Given the description of an element on the screen output the (x, y) to click on. 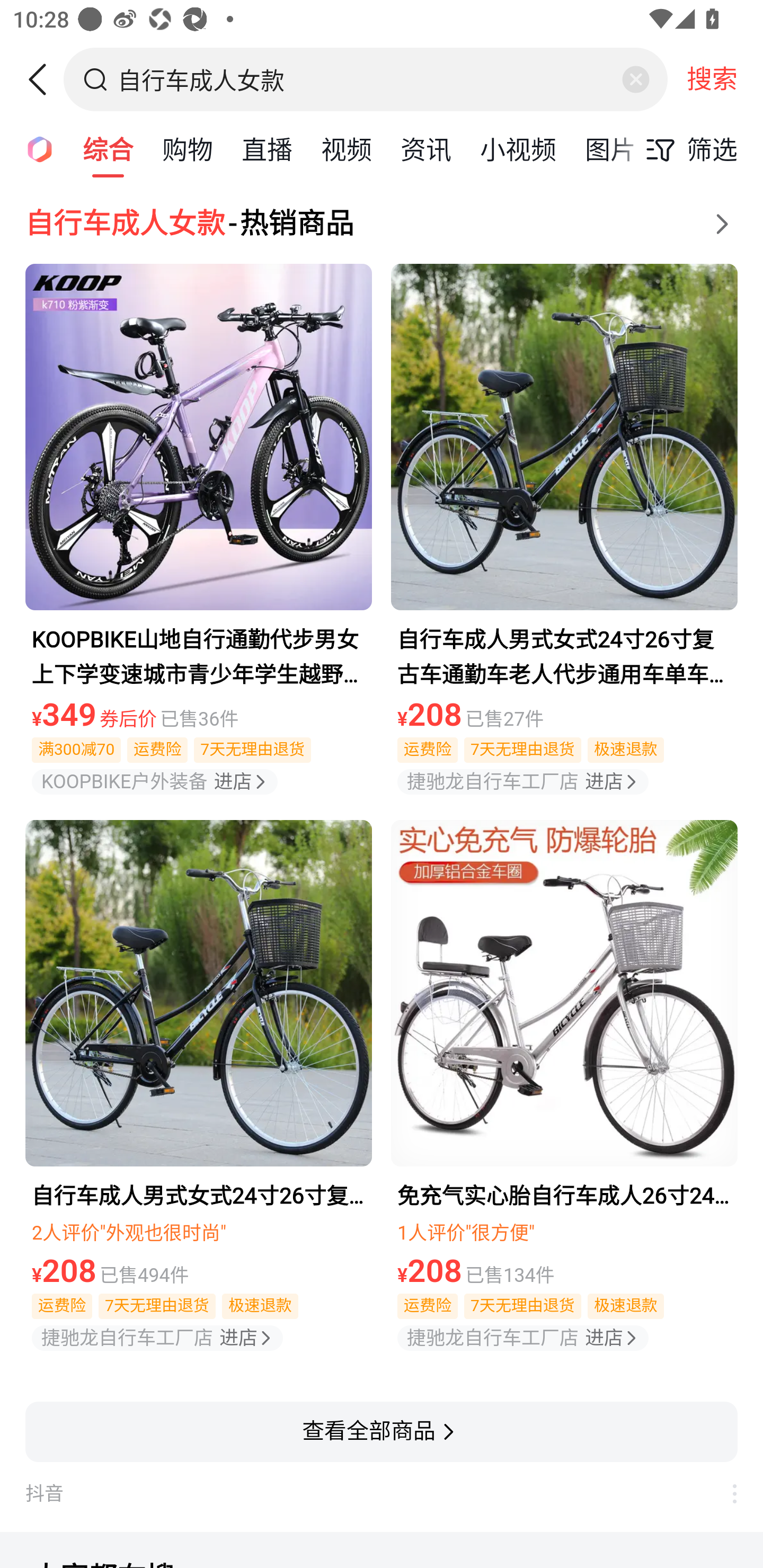
搜索框，自行车成人女款 (366, 79)
搜索 (711, 79)
返回 (44, 79)
清除 (635, 79)
购物 (187, 148)
直播 (266, 148)
视频 (346, 148)
资讯 (425, 148)
小视频 (517, 148)
图片 (610, 148)
筛选 (686, 149)
AI问答 (34, 148)
自行车成人女款 -热销商品 (381, 223)
查看全部商品 (381, 1431)
抖音 (368, 1493)
举报反馈 (724, 1493)
